Given the description of an element on the screen output the (x, y) to click on. 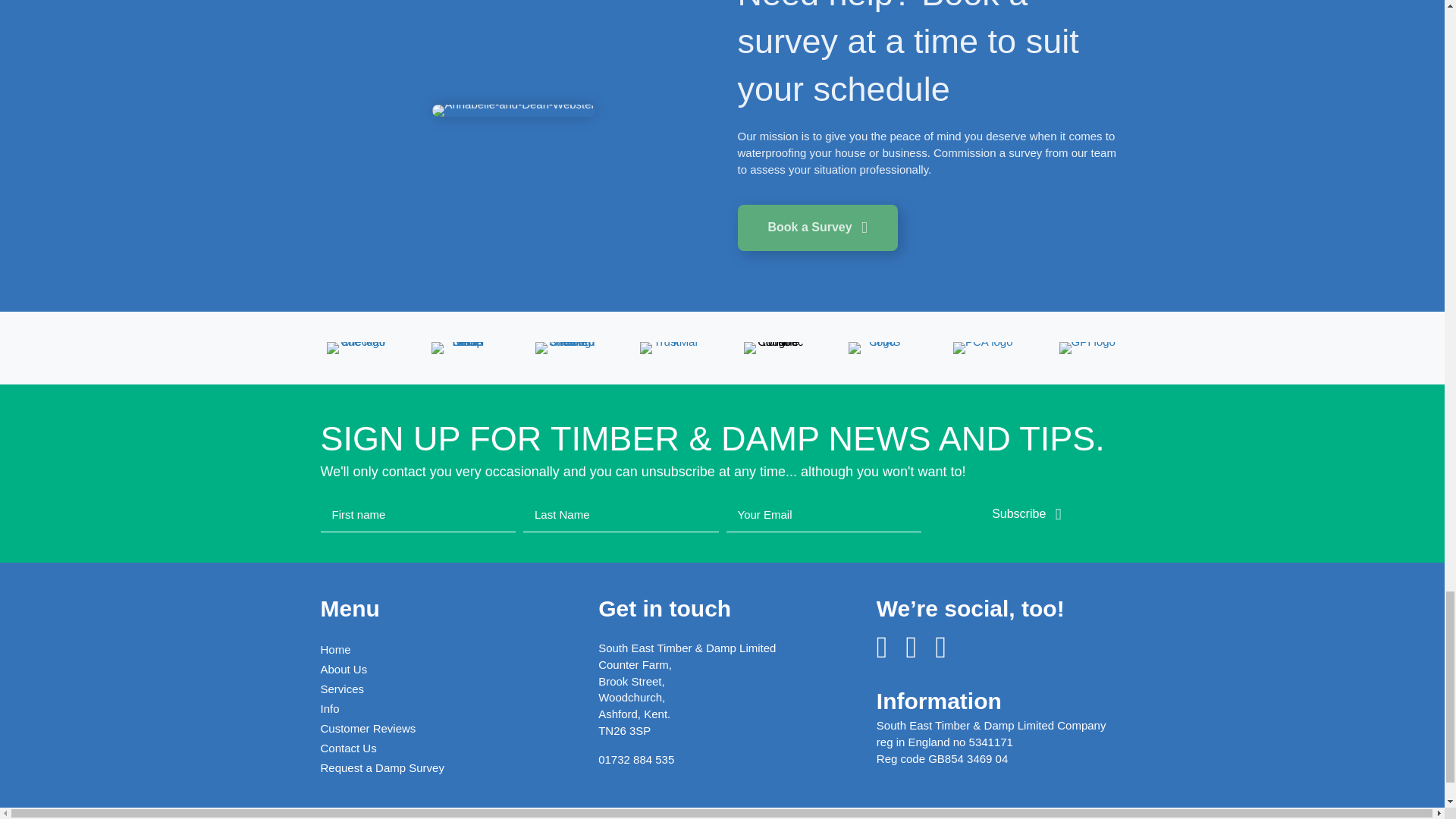
Annabelle-and-Dean-Webster (513, 110)
Which Trusted Trader logo (461, 346)
Checkatrade logo (356, 347)
Trading Standards Checked Kent (565, 347)
